Given the description of an element on the screen output the (x, y) to click on. 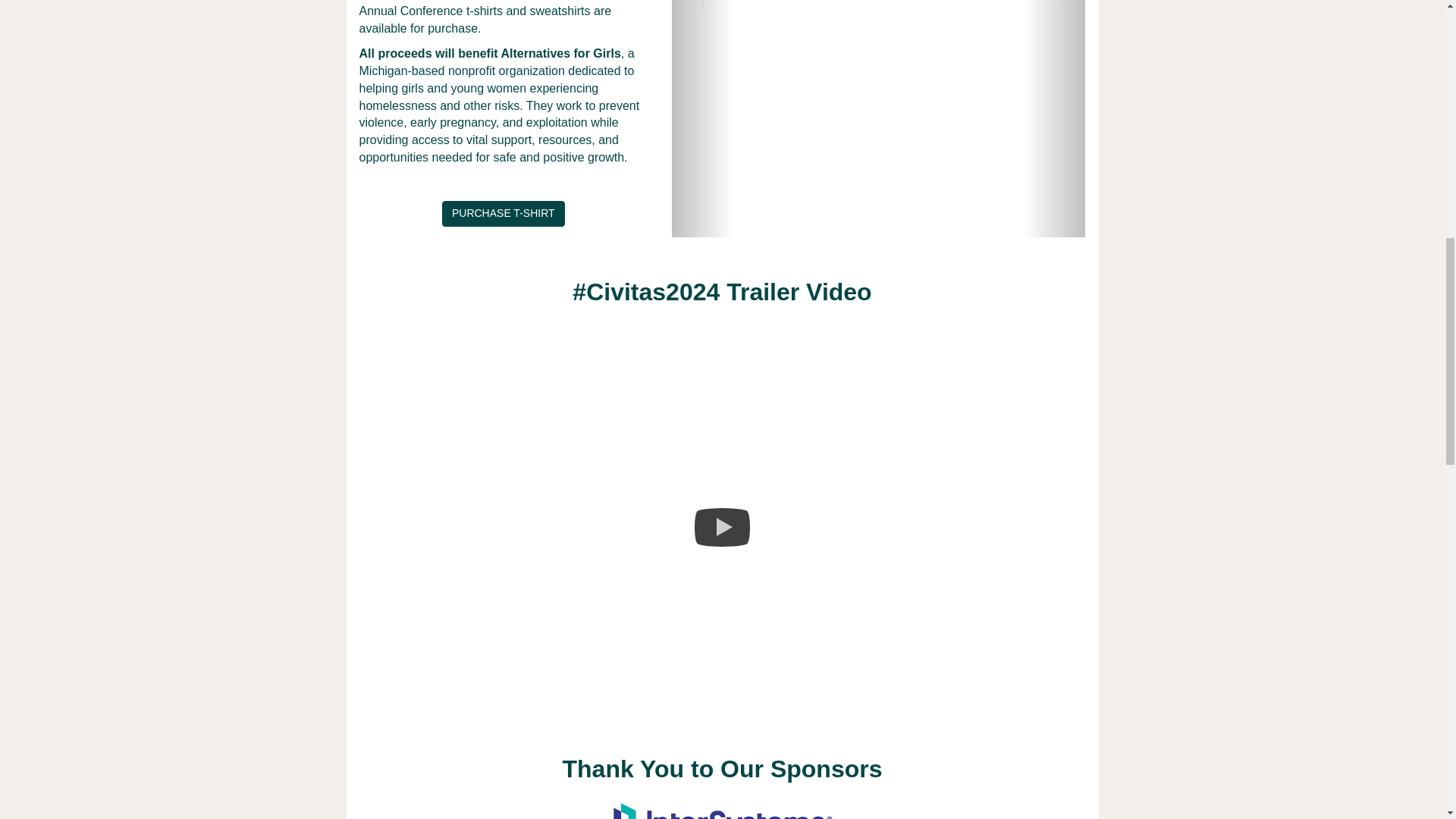
Alternatives for Girl (556, 52)
PURCHASE T-SHIRT (503, 213)
